Given the description of an element on the screen output the (x, y) to click on. 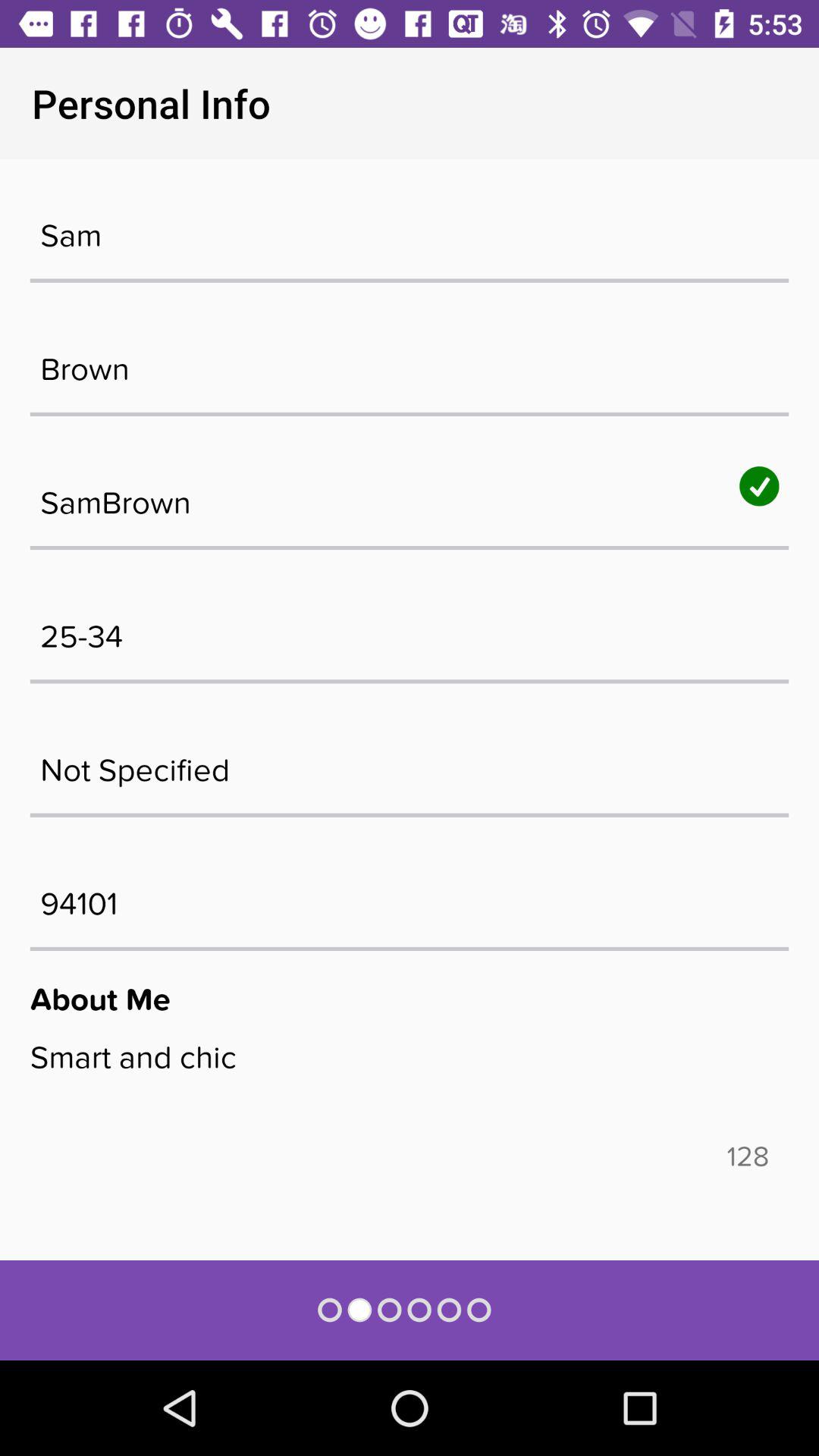
swipe to the not specified (409, 762)
